Given the description of an element on the screen output the (x, y) to click on. 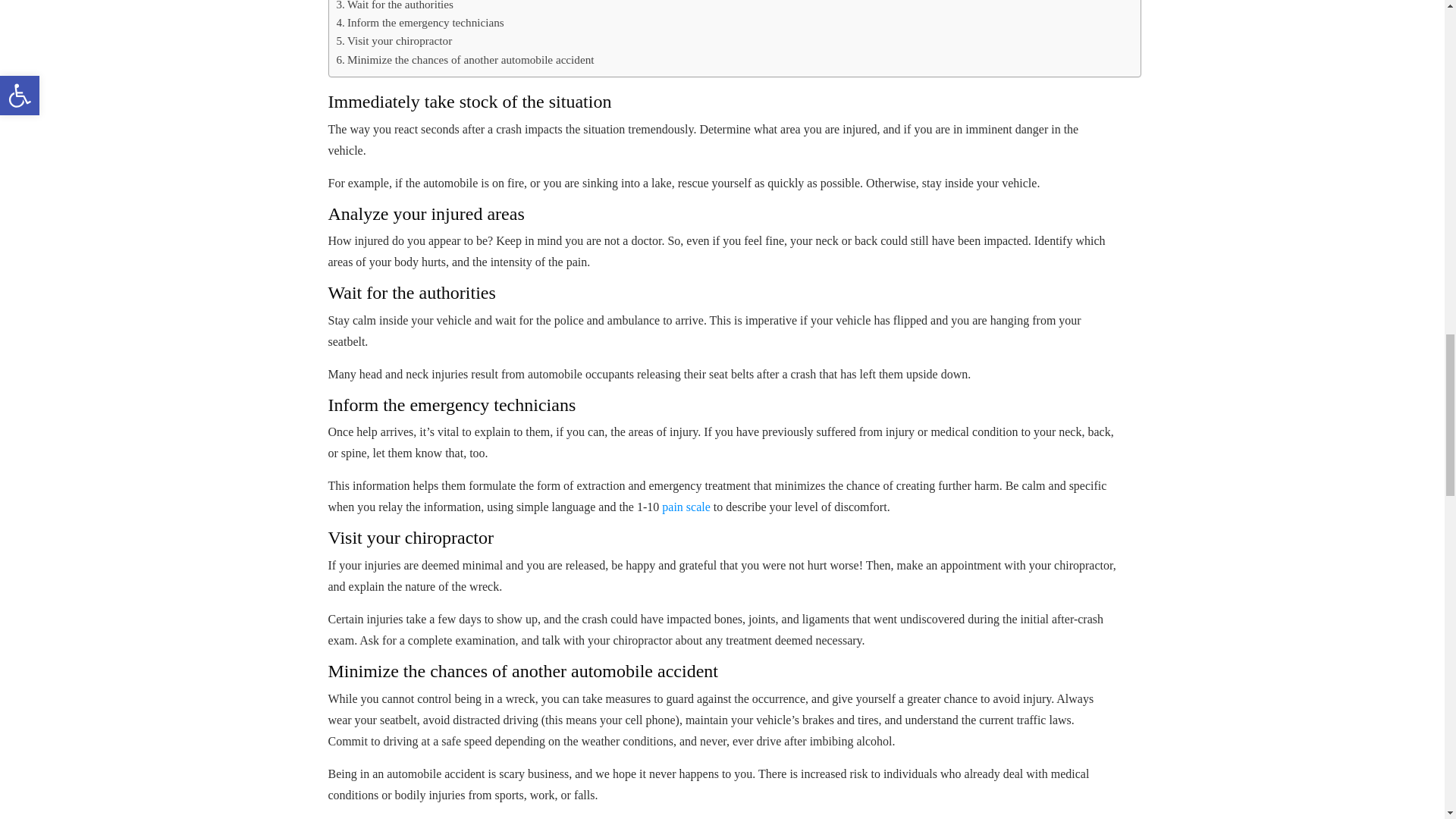
pain scale (686, 506)
Minimize the chances of another automobile accident (465, 59)
Inform the emergency technicians (419, 22)
Visit your chiropractor (394, 40)
Visit your chiropractor (394, 40)
Minimize the chances of another automobile accident (465, 59)
Inform the emergency technicians (419, 22)
Wait for the authorities (394, 6)
Wait for the authorities (394, 6)
